Given the description of an element on the screen output the (x, y) to click on. 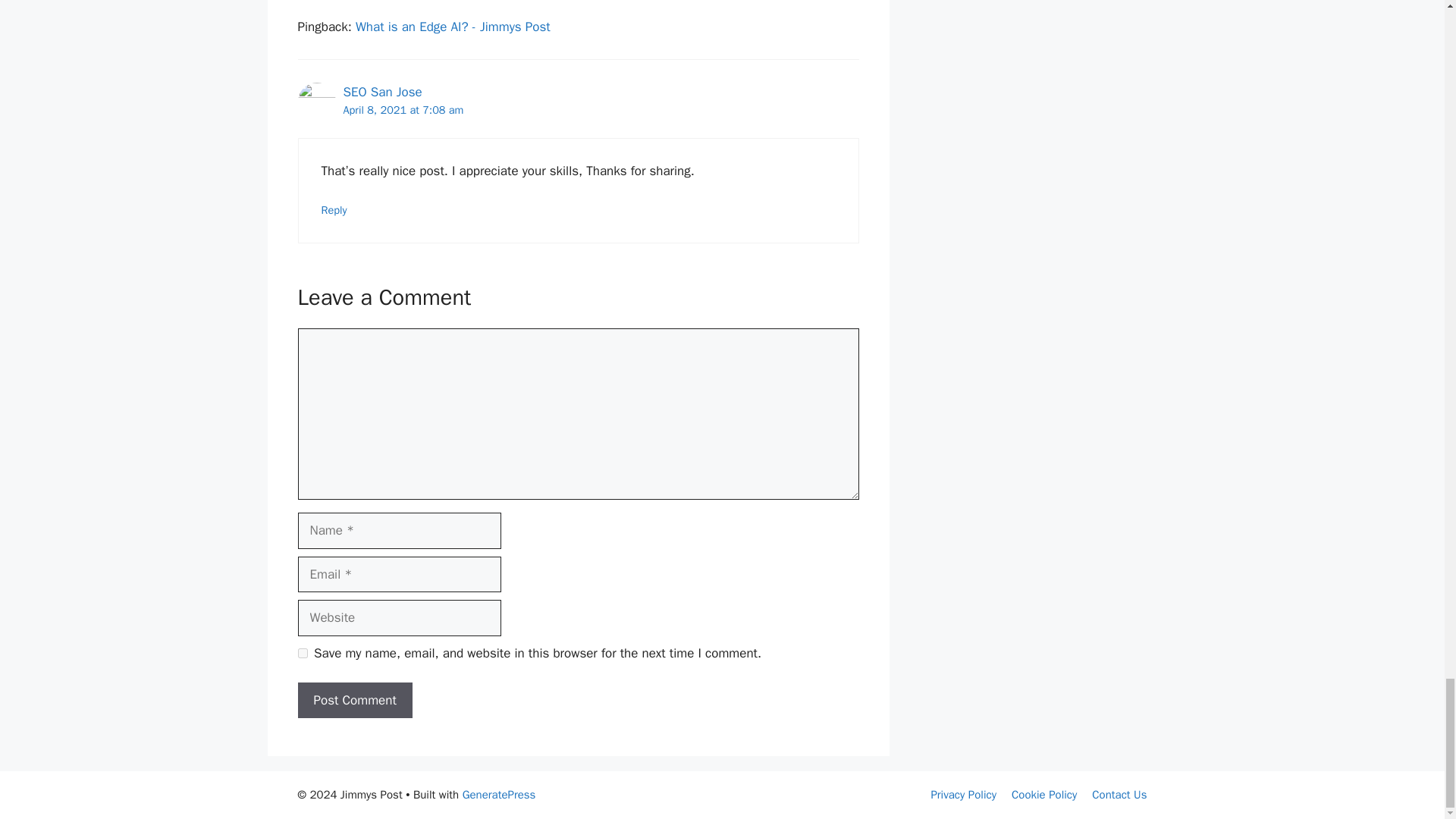
Cookie Policy (1044, 794)
SEO San Jose (382, 91)
What is an Edge AI? - Jimmys Post (452, 26)
Reply (334, 210)
April 8, 2021 at 7:08 am (402, 110)
Post Comment (354, 700)
GeneratePress (499, 794)
Privacy Policy (962, 794)
Post Comment (354, 700)
yes (302, 653)
Contact Us (1119, 794)
